Given the description of an element on the screen output the (x, y) to click on. 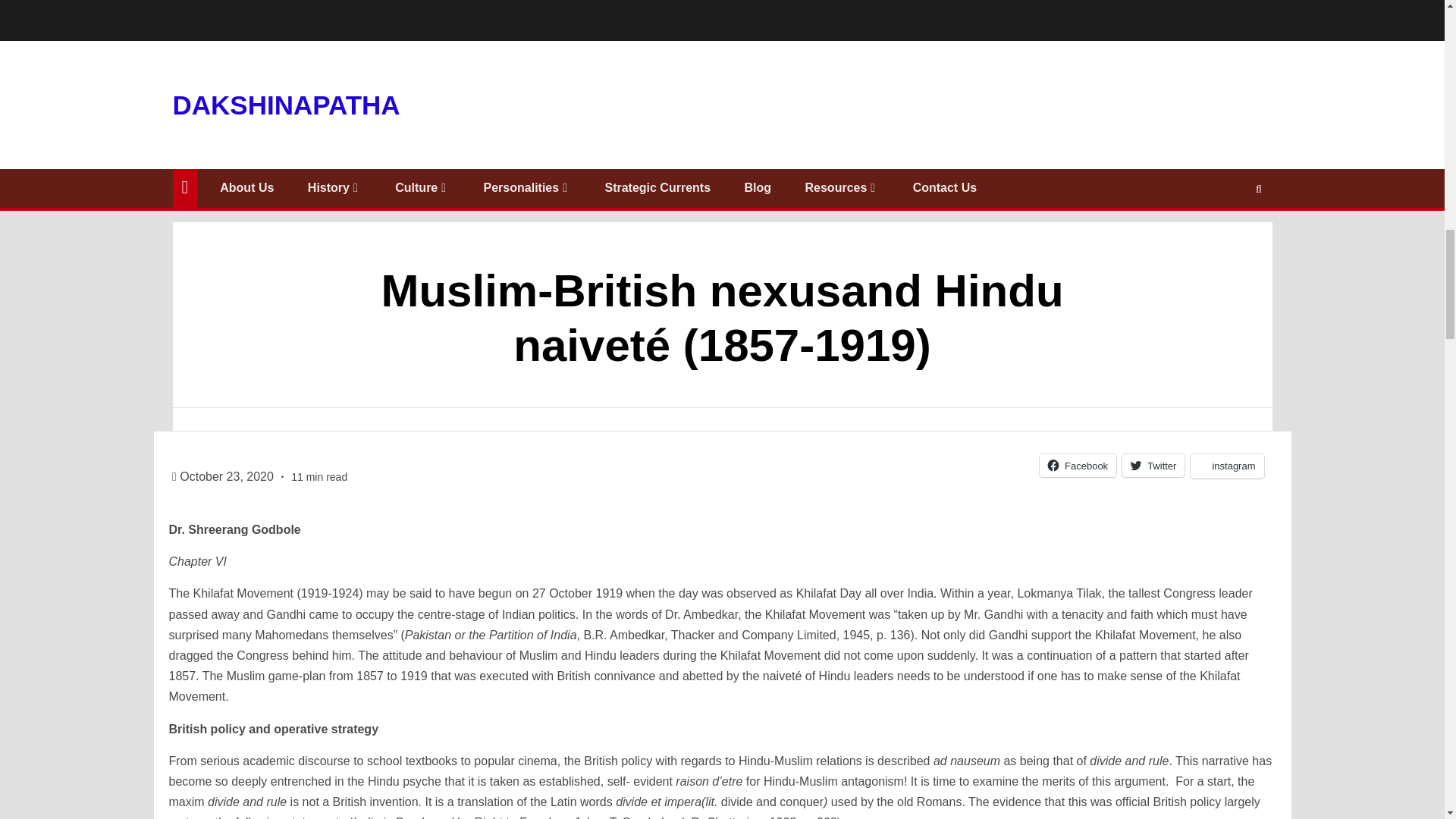
Culture (421, 187)
About Us (246, 187)
Click to share on Twitter (1153, 465)
Personalities (526, 187)
Click to share on instagram (1227, 466)
History (334, 187)
DAKSHINAPATHA (286, 103)
Click to share on Facebook (1077, 465)
